Given the description of an element on the screen output the (x, y) to click on. 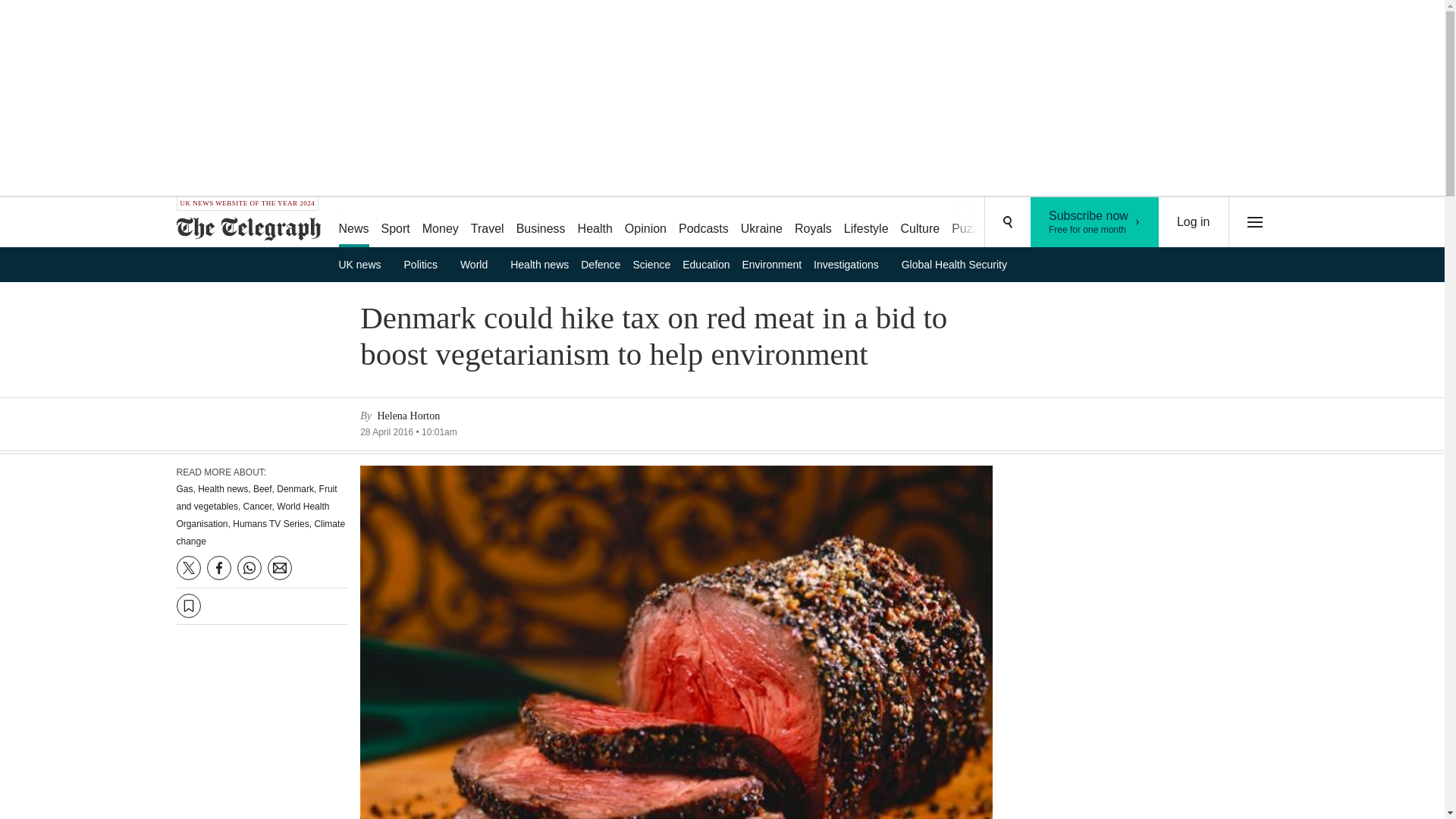
World (478, 264)
Culture (920, 223)
Royals (813, 223)
Podcasts (703, 223)
News (352, 223)
Opinion (645, 223)
Lifestyle (1094, 222)
UK news (866, 223)
Health (364, 264)
Ukraine (595, 223)
Business (762, 223)
Money (541, 223)
Log in (440, 223)
Travel (1193, 222)
